Given the description of an element on the screen output the (x, y) to click on. 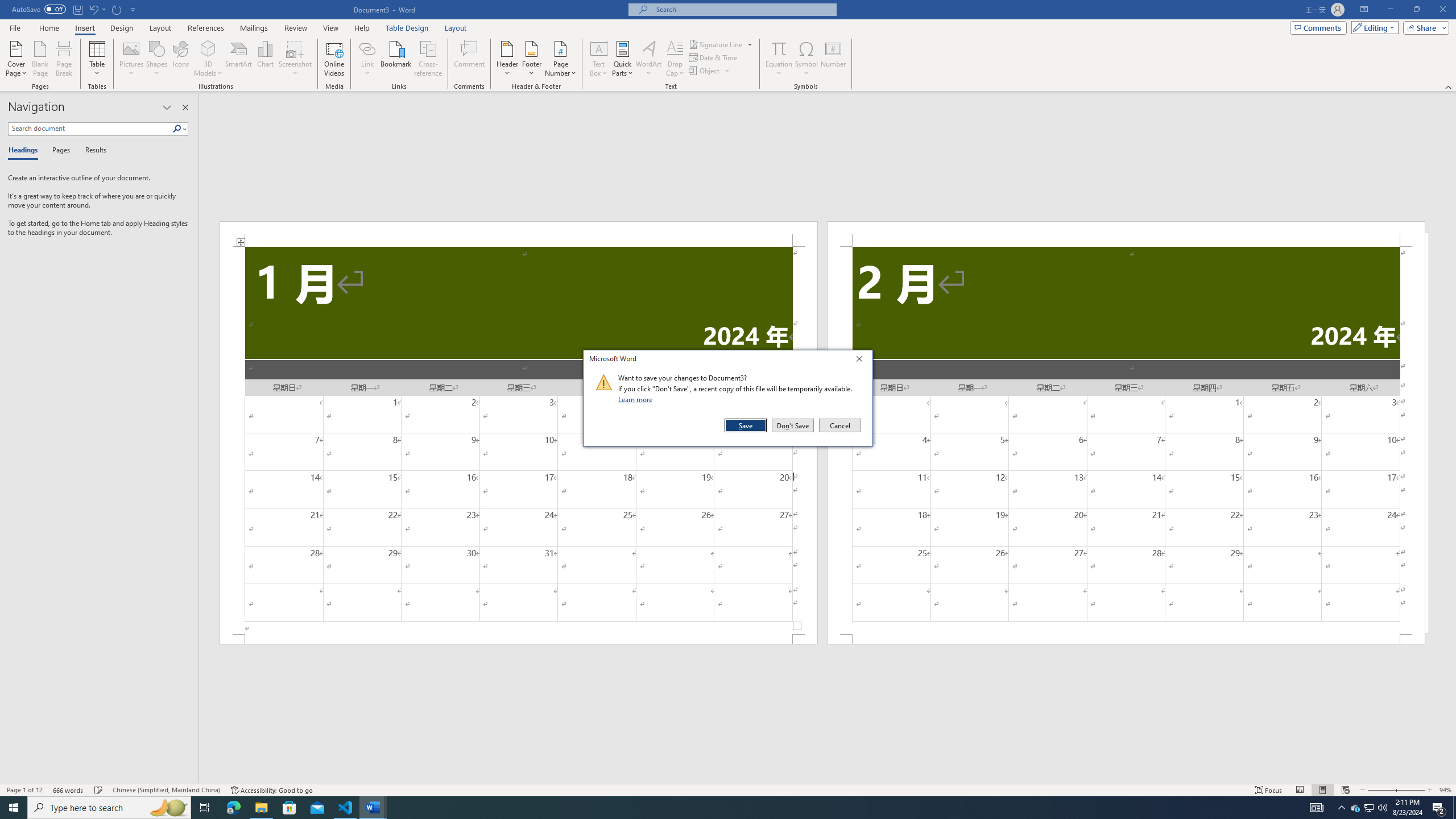
Blank Page (40, 58)
Header (507, 58)
Equation (778, 58)
Microsoft Store (289, 807)
Learn more (636, 399)
Pages (59, 150)
Cover Page (16, 58)
Task View (204, 807)
Microsoft Edge (233, 807)
